Given the description of an element on the screen output the (x, y) to click on. 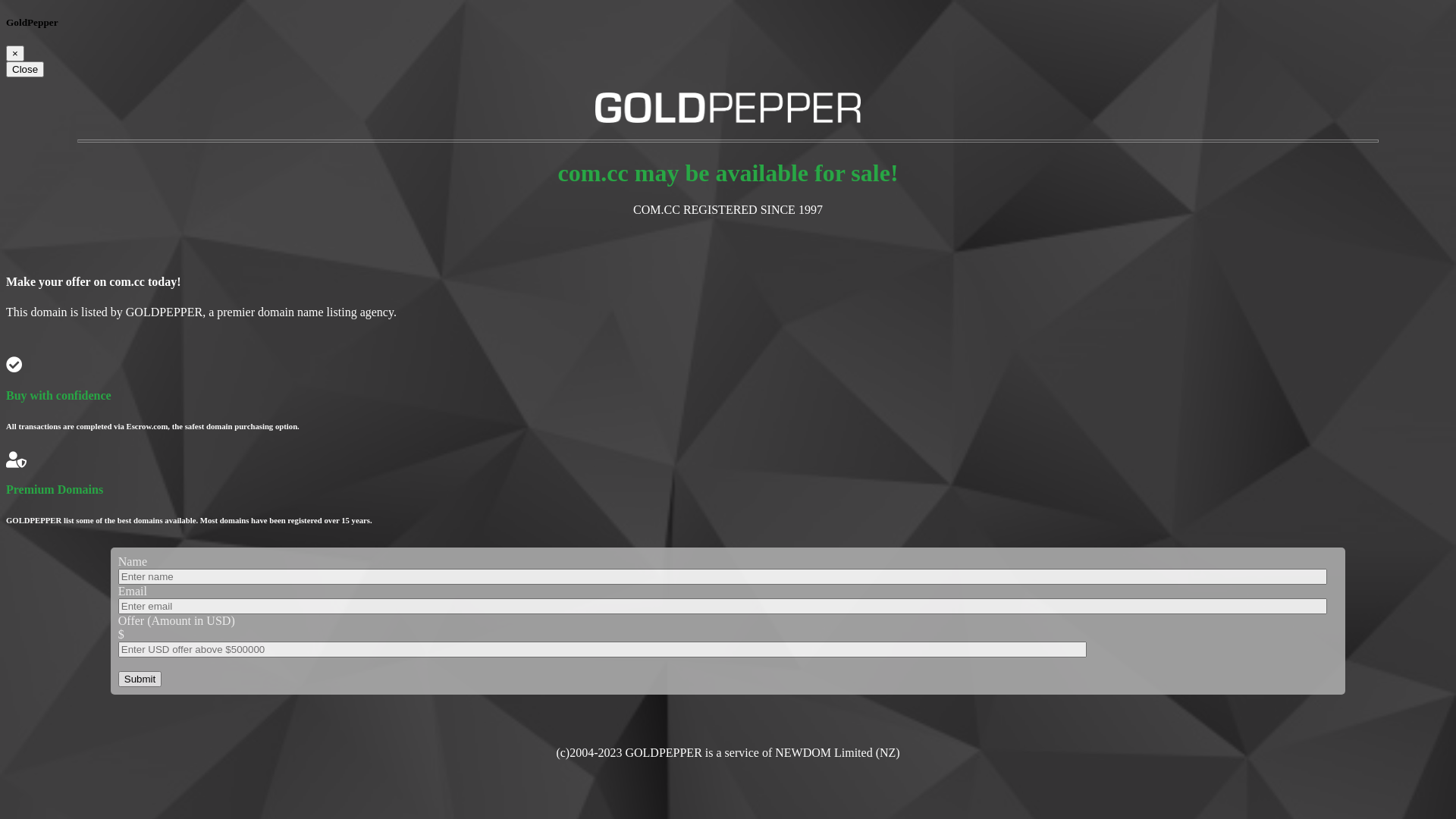
Submit Element type: text (139, 679)
Close Element type: text (24, 69)
